Given the description of an element on the screen output the (x, y) to click on. 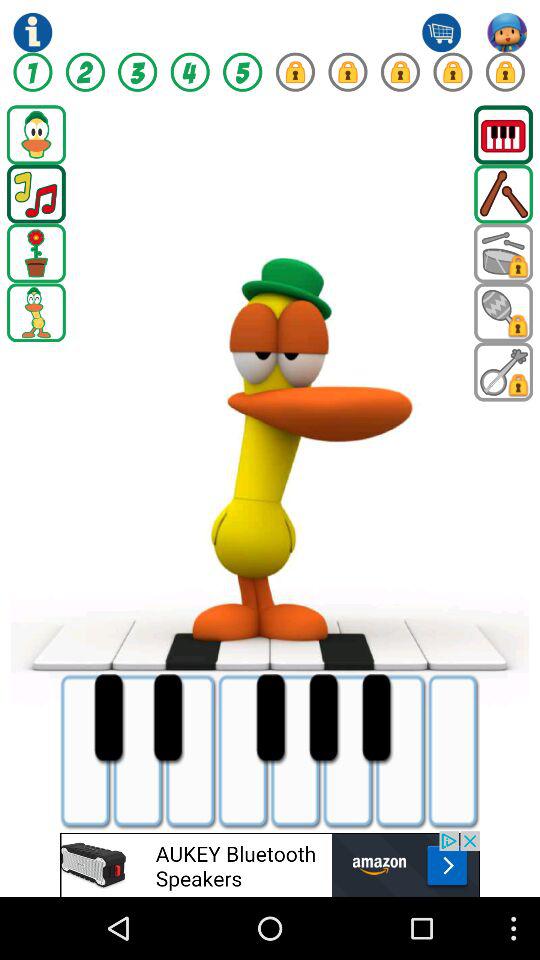
open account menu (507, 32)
